Given the description of an element on the screen output the (x, y) to click on. 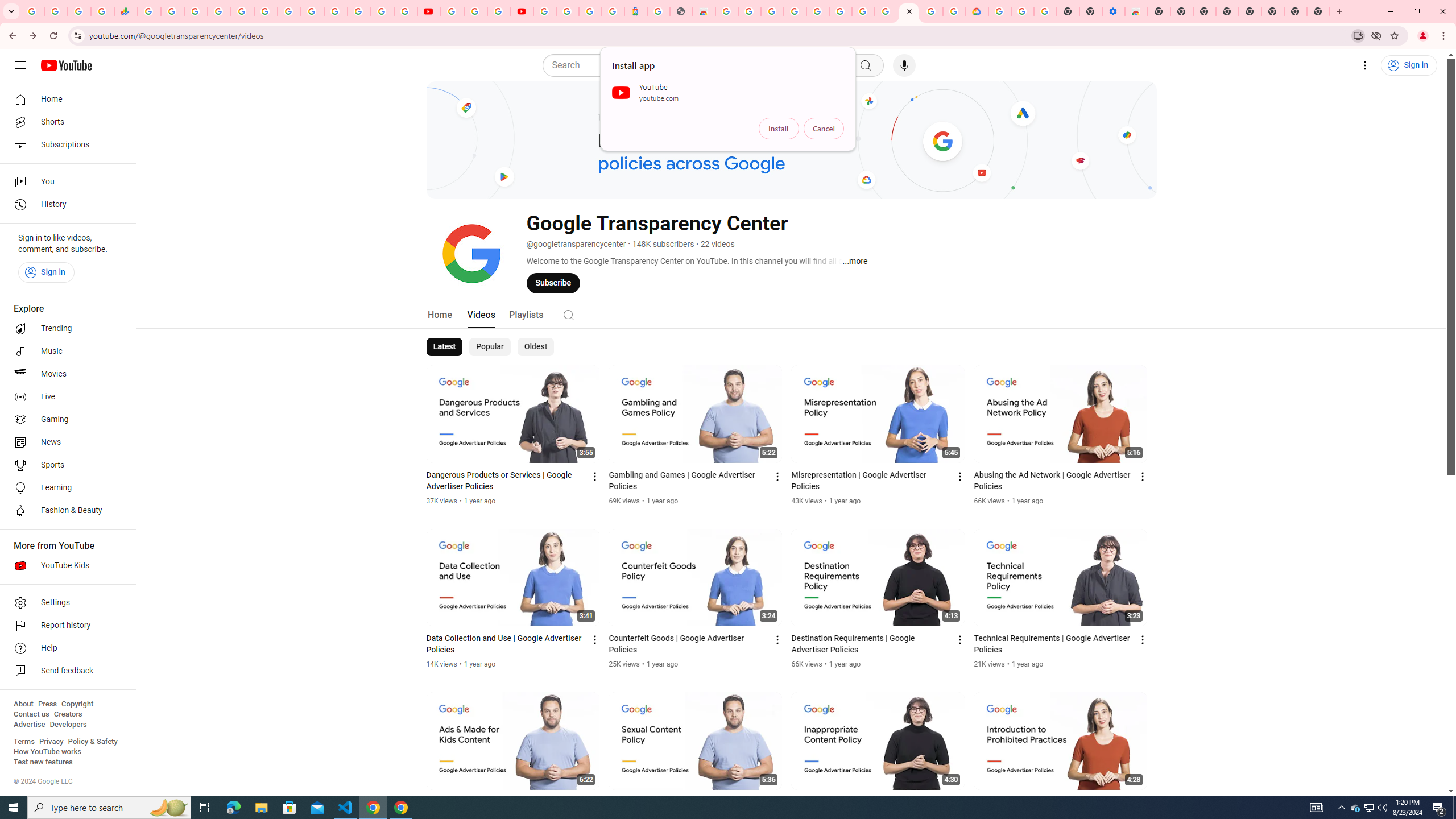
Latest (444, 346)
Learning (64, 487)
Test new features (42, 761)
Gaming (64, 419)
Subscribe (552, 282)
Google Transparency Center - YouTube (909, 11)
Create your Google Account (749, 11)
